Given the description of an element on the screen output the (x, y) to click on. 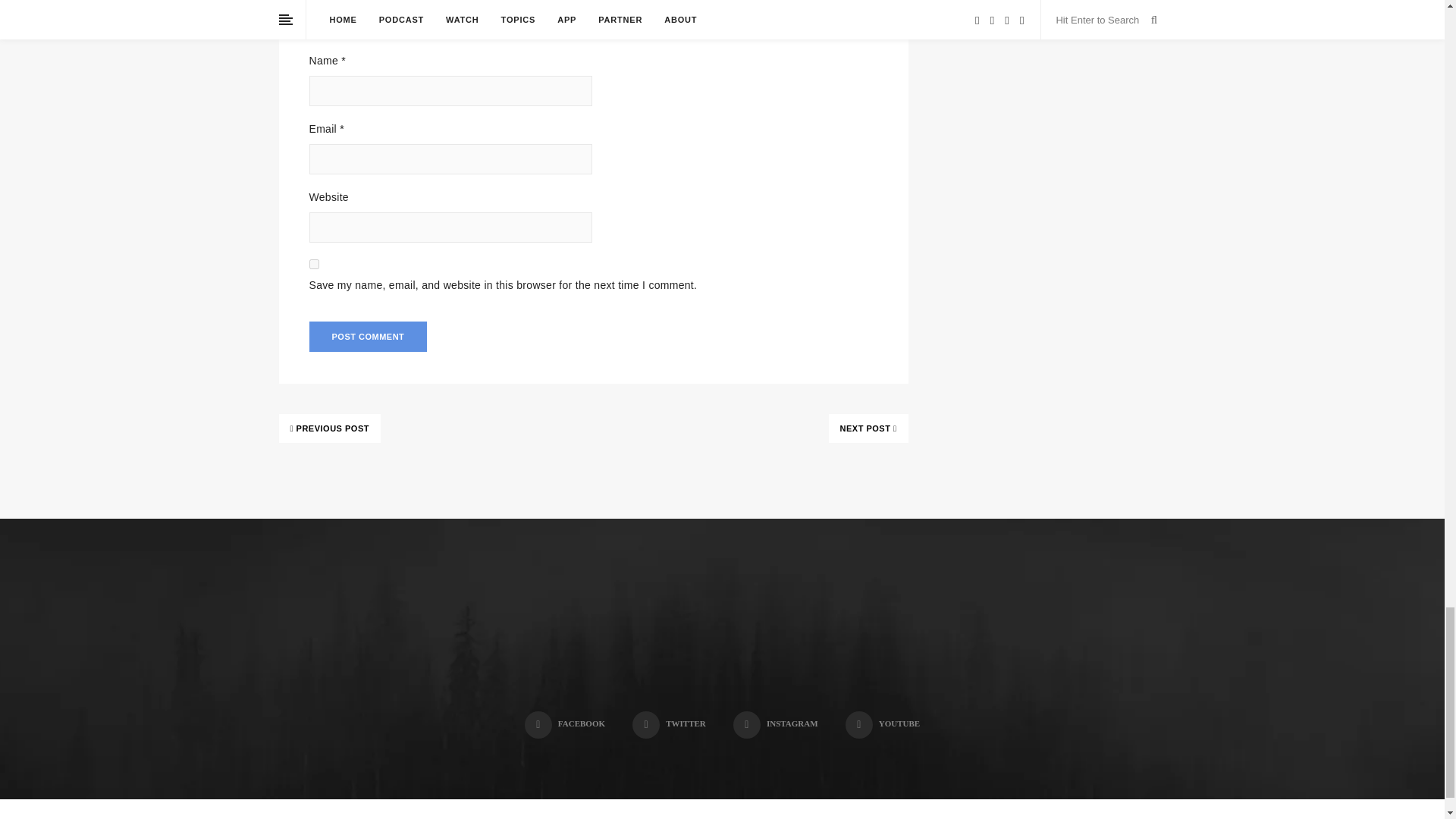
yes (313, 264)
Post Comment (368, 336)
